Given the description of an element on the screen output the (x, y) to click on. 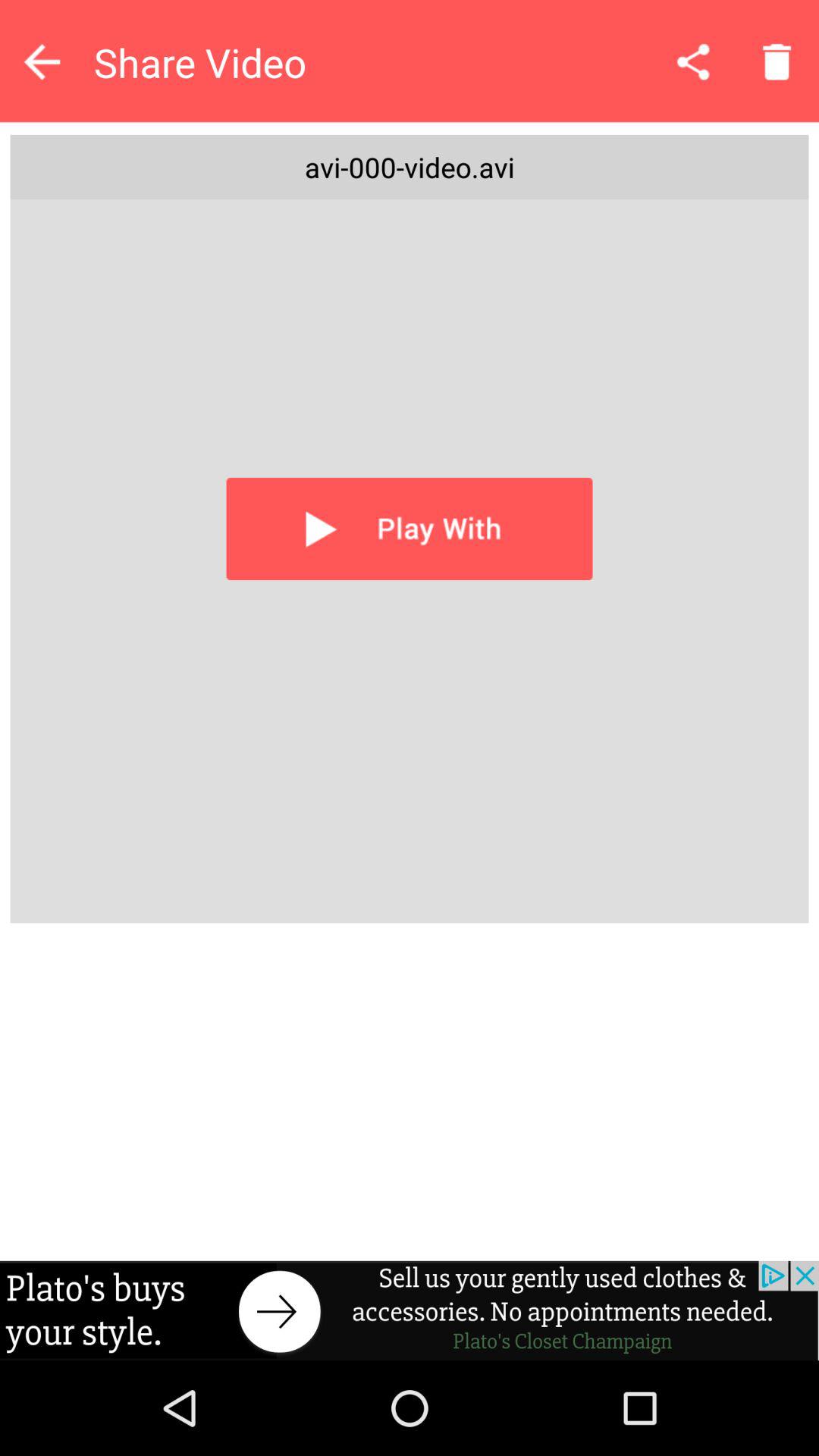
discard file (776, 61)
